Given the description of an element on the screen output the (x, y) to click on. 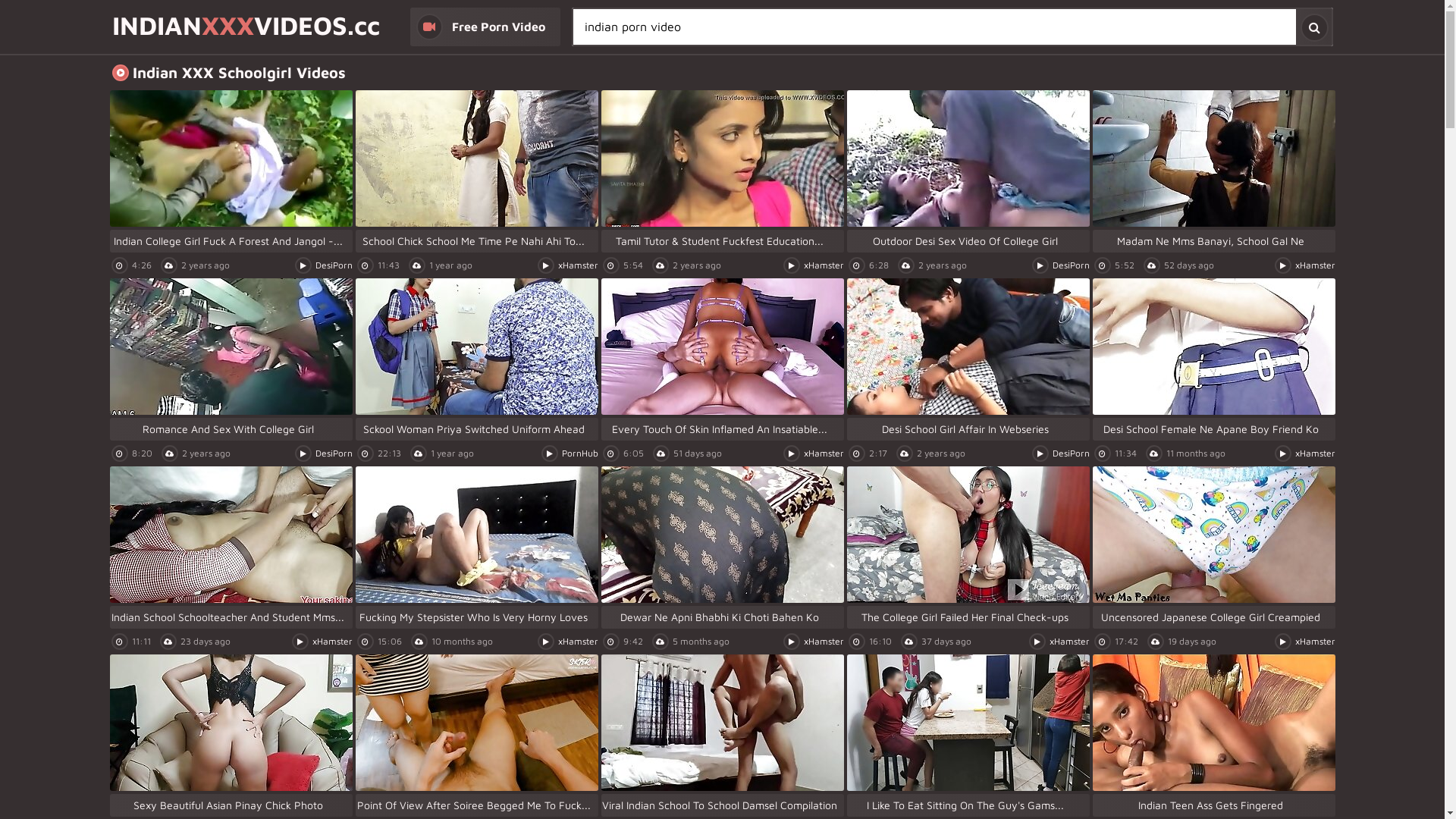
DesiPorn Element type: text (333, 453)
Uncensored Japanese College Girl Creampied In... Element type: text (1213, 547)
Point Of View After Soiree Begged Me To Fuck... Element type: text (475, 735)
xHamster Element type: text (332, 641)
Indian College Girl Fuck A Forest And Jangol -... Element type: text (230, 171)
xHamster Element type: text (578, 265)
Sexy Beautiful Asian Pinay Chick Photo Element type: text (230, 735)
DesiPorn Element type: text (333, 265)
Indian Teen Ass Gets Fingered Element type: text (1213, 735)
Outdoor Desi Sex Video Of College Girl Champa... Element type: text (967, 171)
Dewar Ne Apni Bhabhi Ki Choti Bahen Ko Choda... Element type: text (721, 547)
INDIANXXXVIDEOS.cc Element type: text (245, 26)
xHamster Element type: text (1315, 265)
The College Girl Failed Her Final Check-ups And... Element type: text (967, 547)
xHamster Element type: text (823, 641)
Find Element type: hover (1312, 26)
xHamster Element type: text (1315, 641)
DesiPorn Element type: text (1070, 453)
Tamil Tutor & Student Fuckfest Education... Element type: text (721, 171)
I Like To Eat Sitting On The Guy's Gams... Element type: text (967, 735)
Free Porn Video Element type: text (484, 26)
Sckool Woman Priya Switched Uniform Ahead Of... Element type: text (475, 359)
Fucking My Stepsister Who Is Very Horny Loves Milk Element type: text (475, 547)
Indian School Schoolteacher And Student Mms... Element type: text (230, 547)
xHamster Element type: text (823, 265)
Desi School Female Ne Apane Boy Friend Ko Ghar... Element type: text (1213, 359)
Madam Ne Mms Banayi, School Gal Ne Bathroom Me... Element type: text (1213, 171)
Every Touch Of Skin Inflamed An Insatiable... Element type: text (721, 359)
School Chick School Me Time Pe Nahi Ahi To... Element type: text (475, 171)
xHamster Element type: text (578, 641)
Desi School Girl Affair In Webseries Element type: text (967, 359)
PornHub Element type: text (579, 453)
xHamster Element type: text (1315, 453)
DesiPorn Element type: text (1070, 265)
xHamster Element type: text (1069, 641)
Romance And Sex With College Girl Element type: text (230, 359)
Viral Indian School To School Damsel Compilation Element type: text (721, 735)
xHamster Element type: text (823, 453)
